Given the description of an element on the screen output the (x, y) to click on. 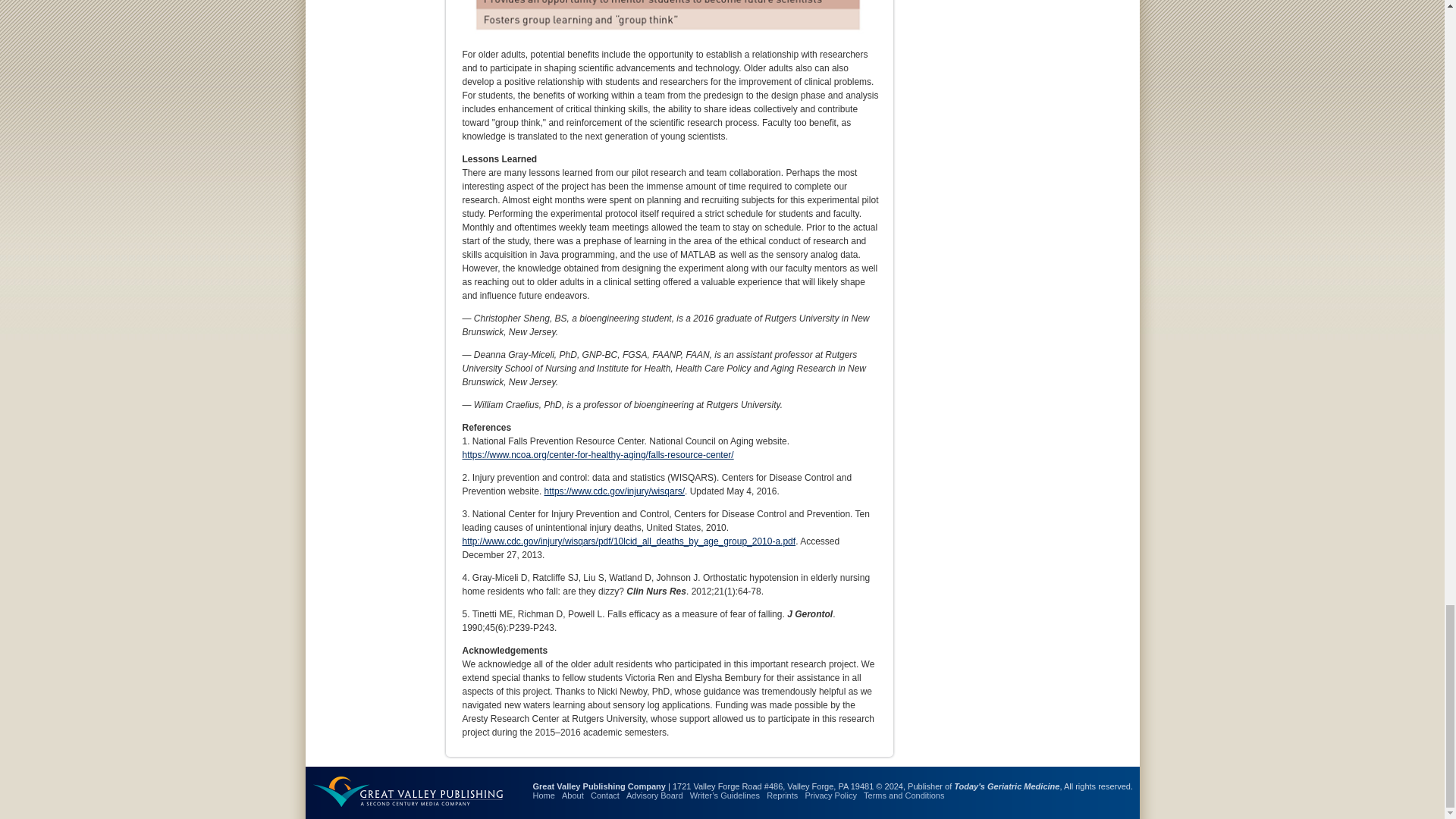
Home (543, 795)
